Given the description of an element on the screen output the (x, y) to click on. 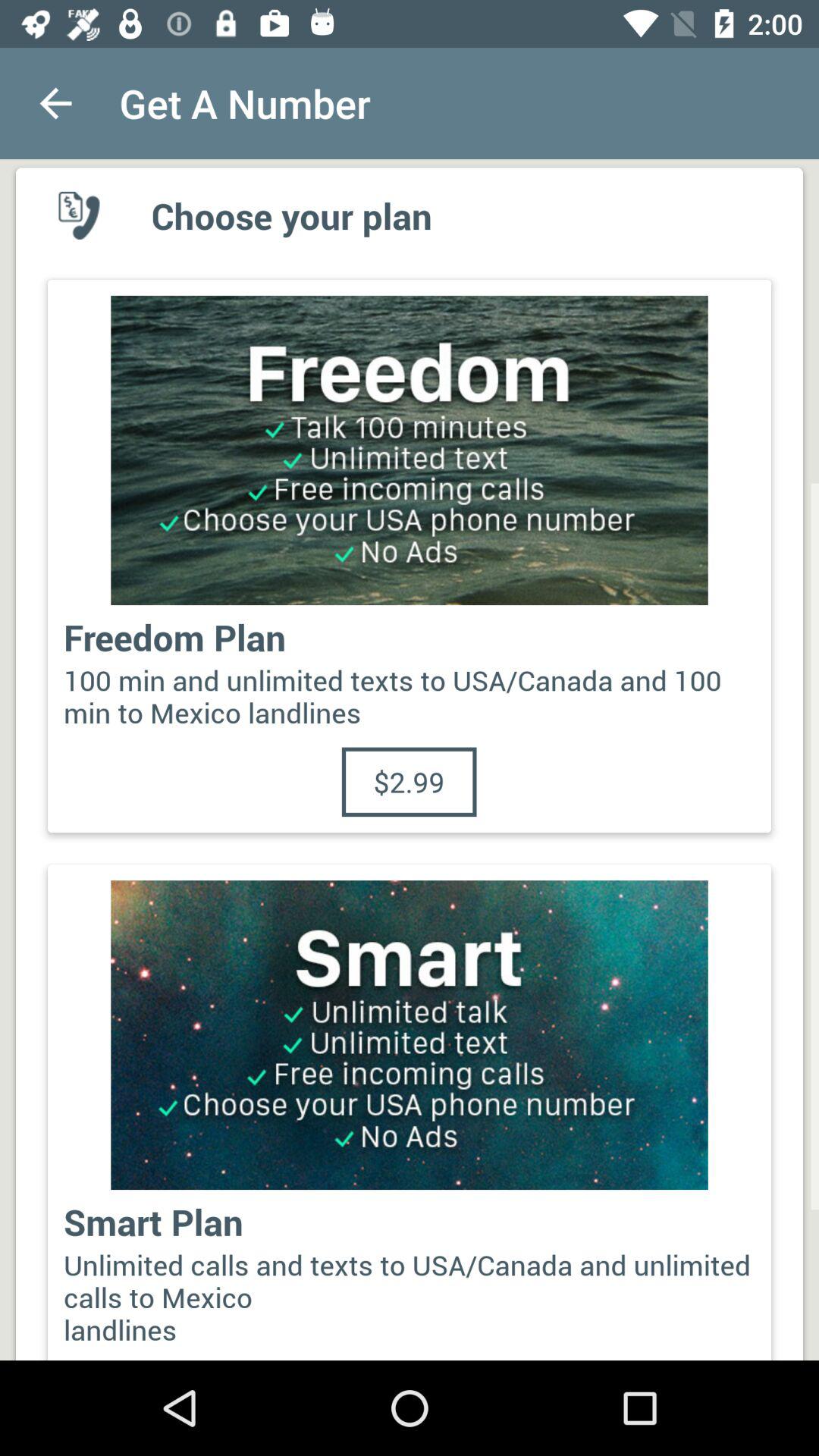
select the item to the left of the get a number app (55, 103)
